Given the description of an element on the screen output the (x, y) to click on. 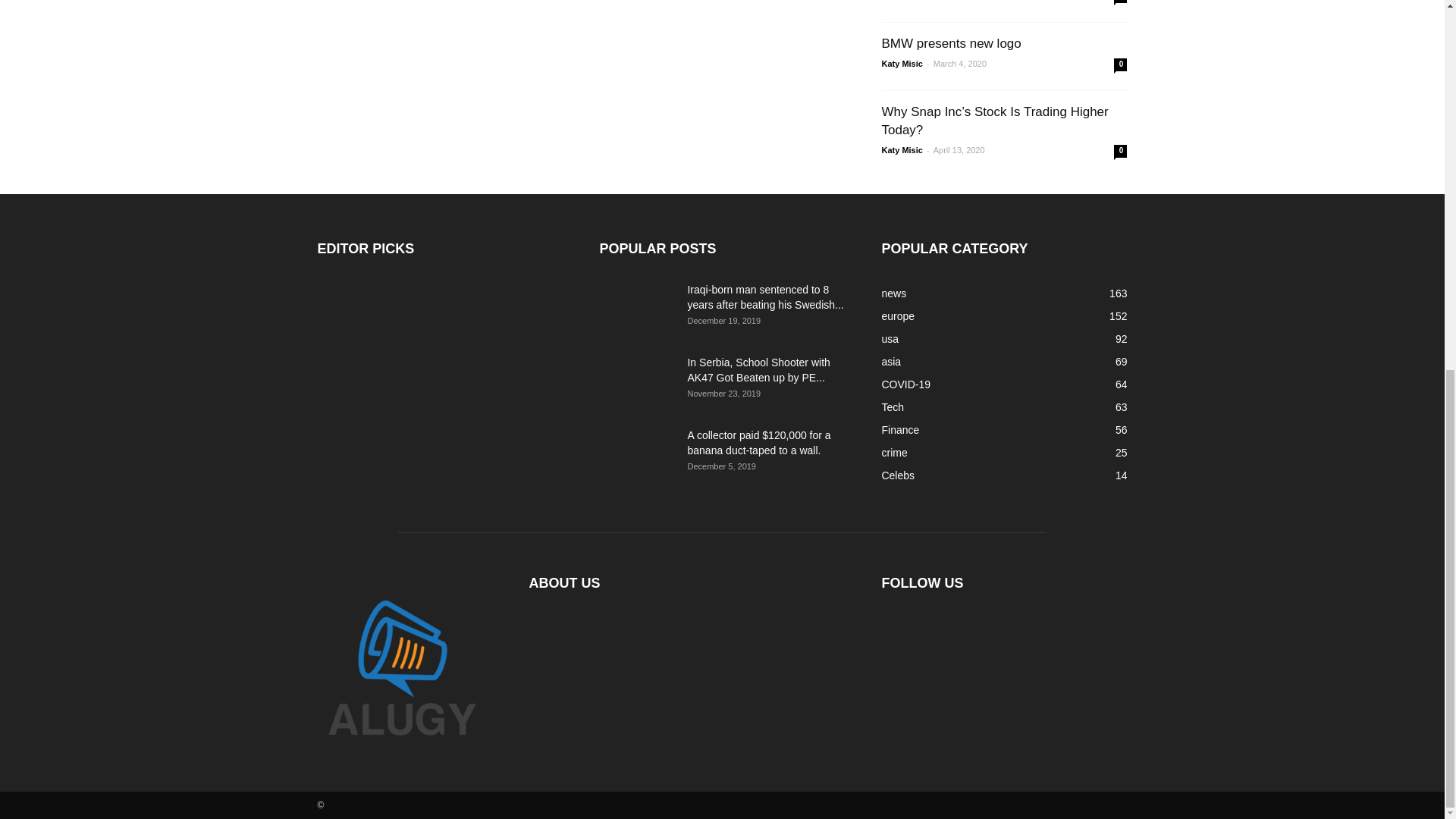
BMW presents new logo (950, 43)
